Given the description of an element on the screen output the (x, y) to click on. 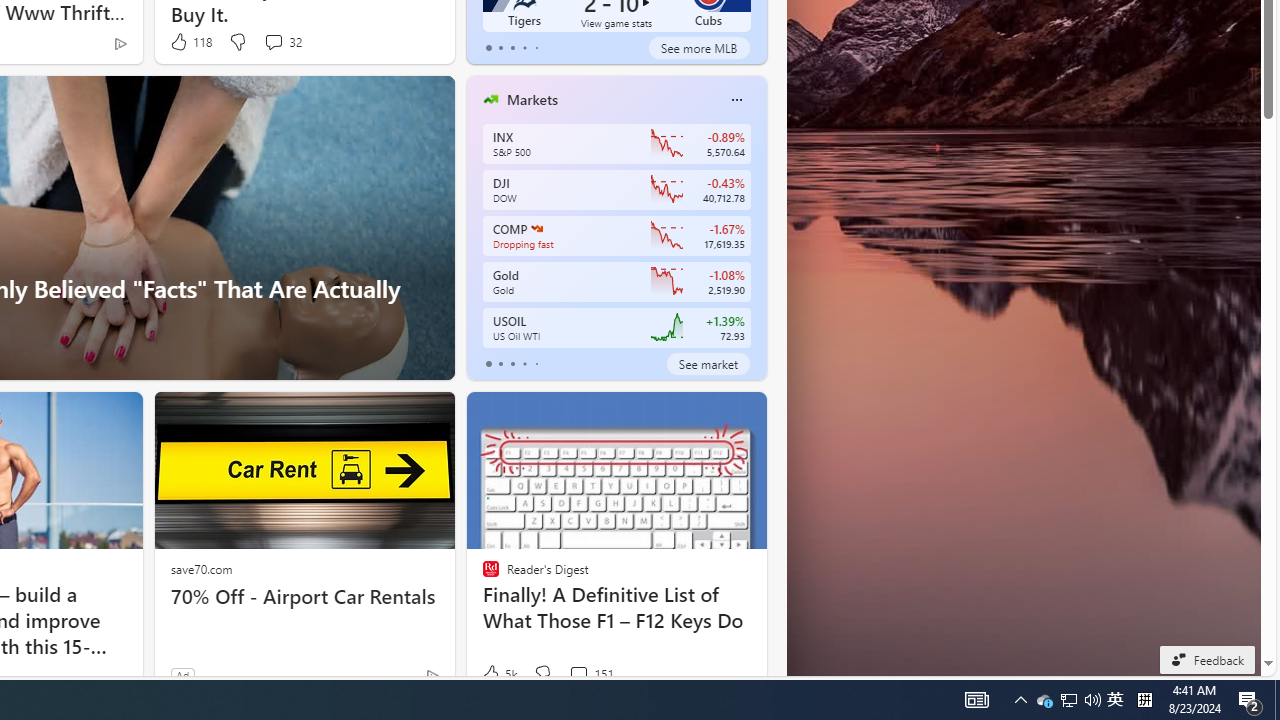
5k Like (498, 674)
tab-4 (535, 363)
Class: icon-img (736, 100)
tab-2 (511, 363)
See market (708, 363)
More options (736, 99)
Dislike (541, 674)
tab-3 (524, 363)
tab-0 (488, 363)
View comments 151 Comment (591, 674)
70% Off - Airport Car Rentals (304, 596)
